Given the description of an element on the screen output the (x, y) to click on. 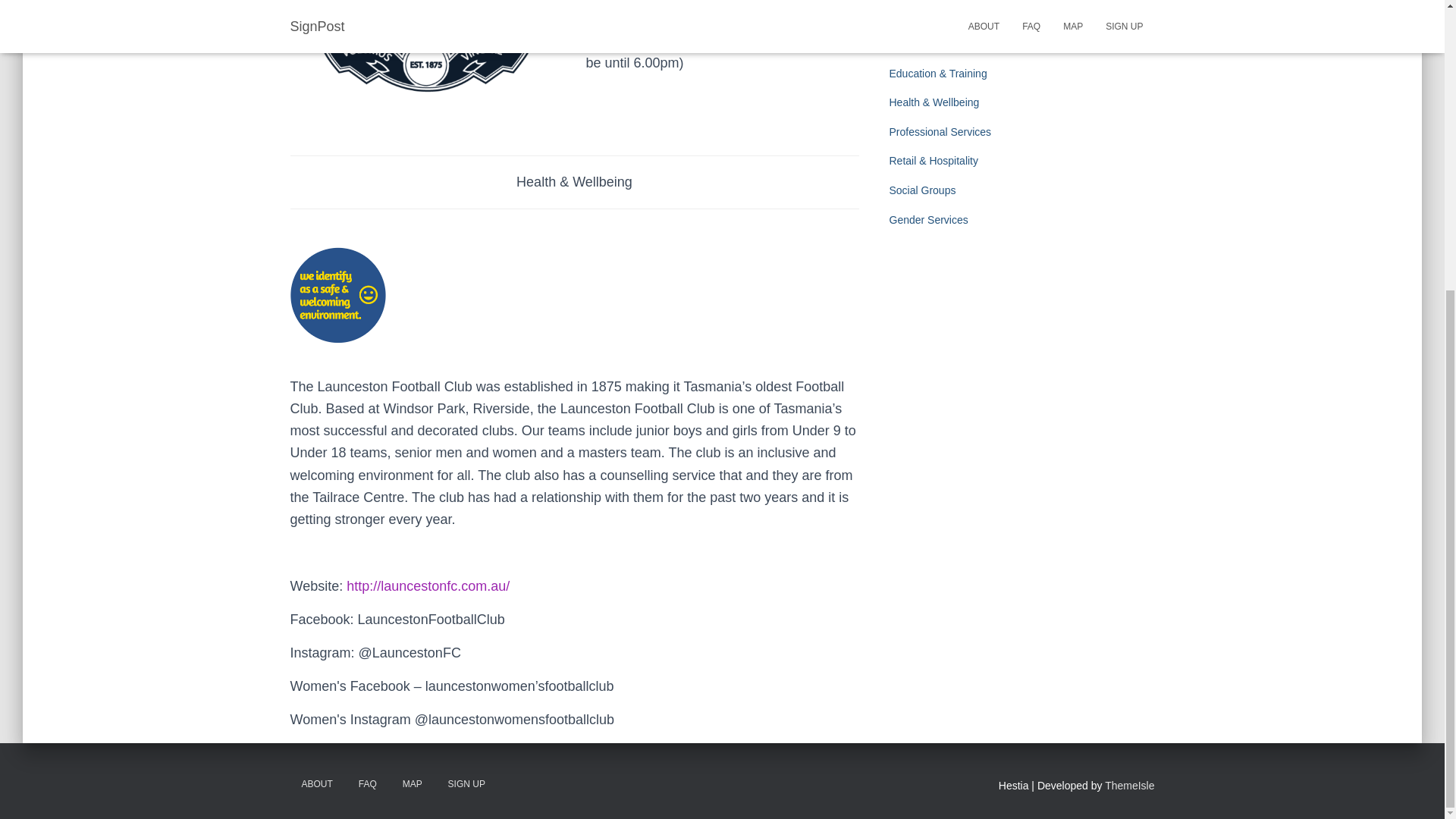
SIGN UP (466, 784)
Professional Services (939, 132)
FAQ (367, 784)
ABOUT (316, 784)
Social Groups (921, 190)
Gender Services (928, 219)
ThemeIsle (1129, 785)
MAP (412, 784)
safe icon (337, 295)
